Given the description of an element on the screen output the (x, y) to click on. 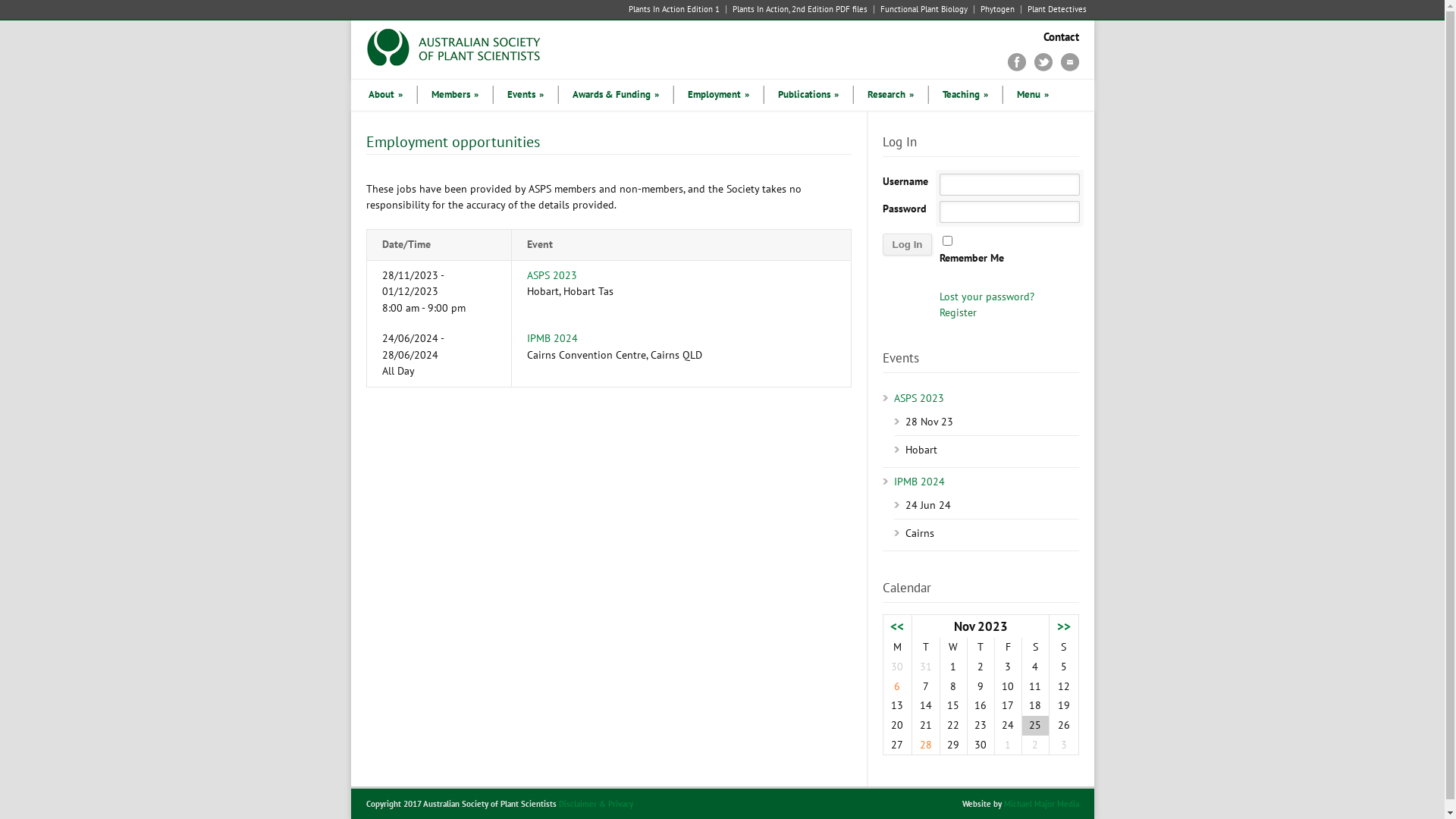
28 Element type: text (925, 744)
Plant Detectives Element type: text (1052, 9)
Log In Element type: text (907, 244)
Plants In Action, 2nd Edition PDF files Element type: text (800, 9)
<< Element type: text (896, 626)
ASPS 2023 Element type: text (918, 397)
6 Element type: text (897, 686)
Functional Plant Biology Element type: text (923, 9)
Michael Major Media Element type: text (1041, 803)
Register Element type: text (957, 312)
Disclaimer & Privacy Element type: text (595, 803)
Lost your password? Element type: text (986, 296)
Plants In Action Edition 1 Element type: text (676, 9)
IPMB 2024 Element type: text (918, 481)
Phytogen Element type: text (996, 9)
>> Element type: text (1063, 626)
IPMB 2024 Element type: text (551, 338)
ASPS 2023 Element type: text (551, 275)
